Given the description of an element on the screen output the (x, y) to click on. 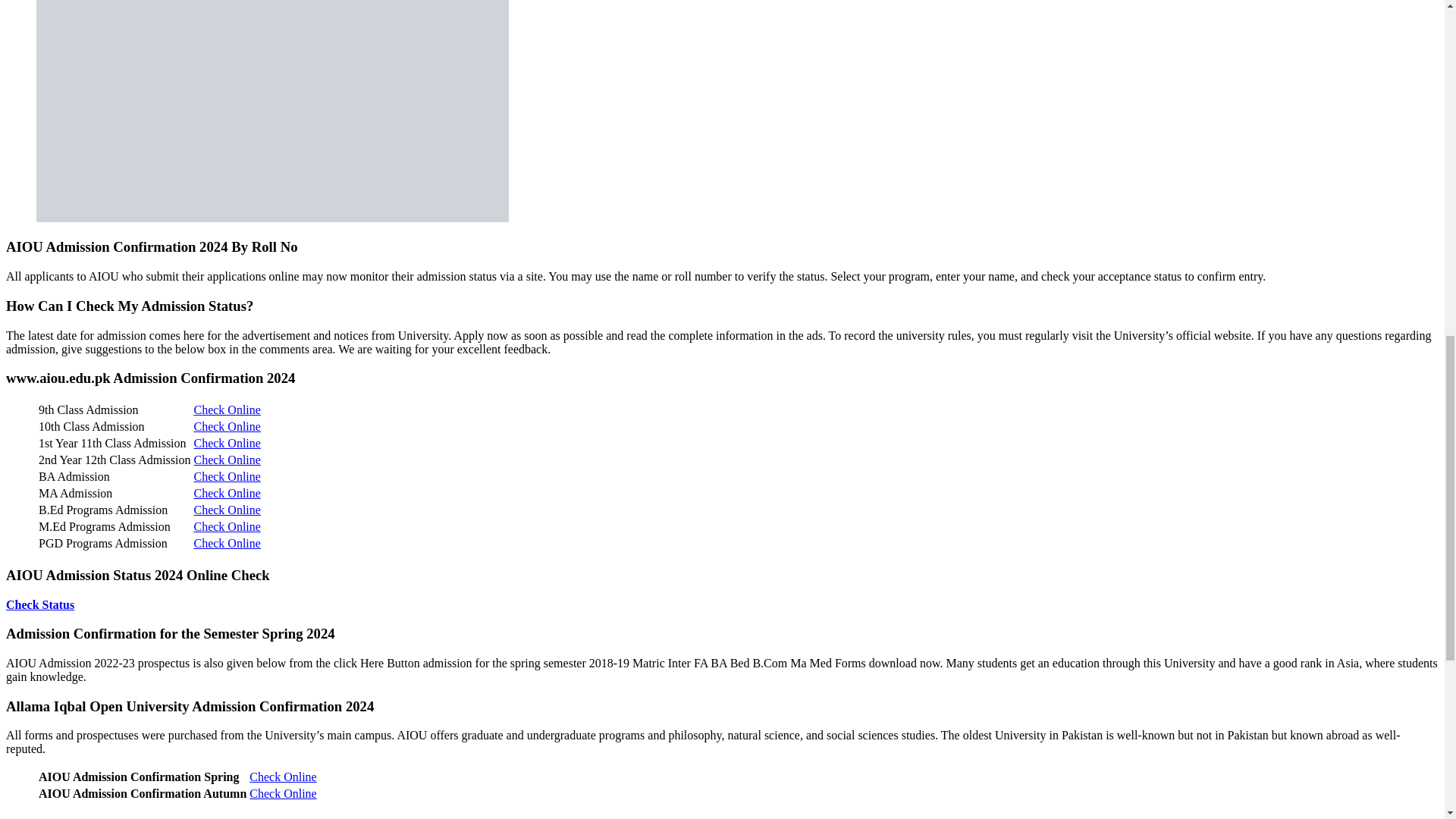
Check Online (281, 793)
Check Status (39, 604)
Check Online (226, 442)
Check Online (226, 476)
Check Online (226, 543)
Check Online (226, 492)
Check Online (226, 459)
Check Online (226, 409)
Check Online (226, 526)
Check Online (226, 509)
Check Online (226, 426)
Check Online (281, 776)
